Given the description of an element on the screen output the (x, y) to click on. 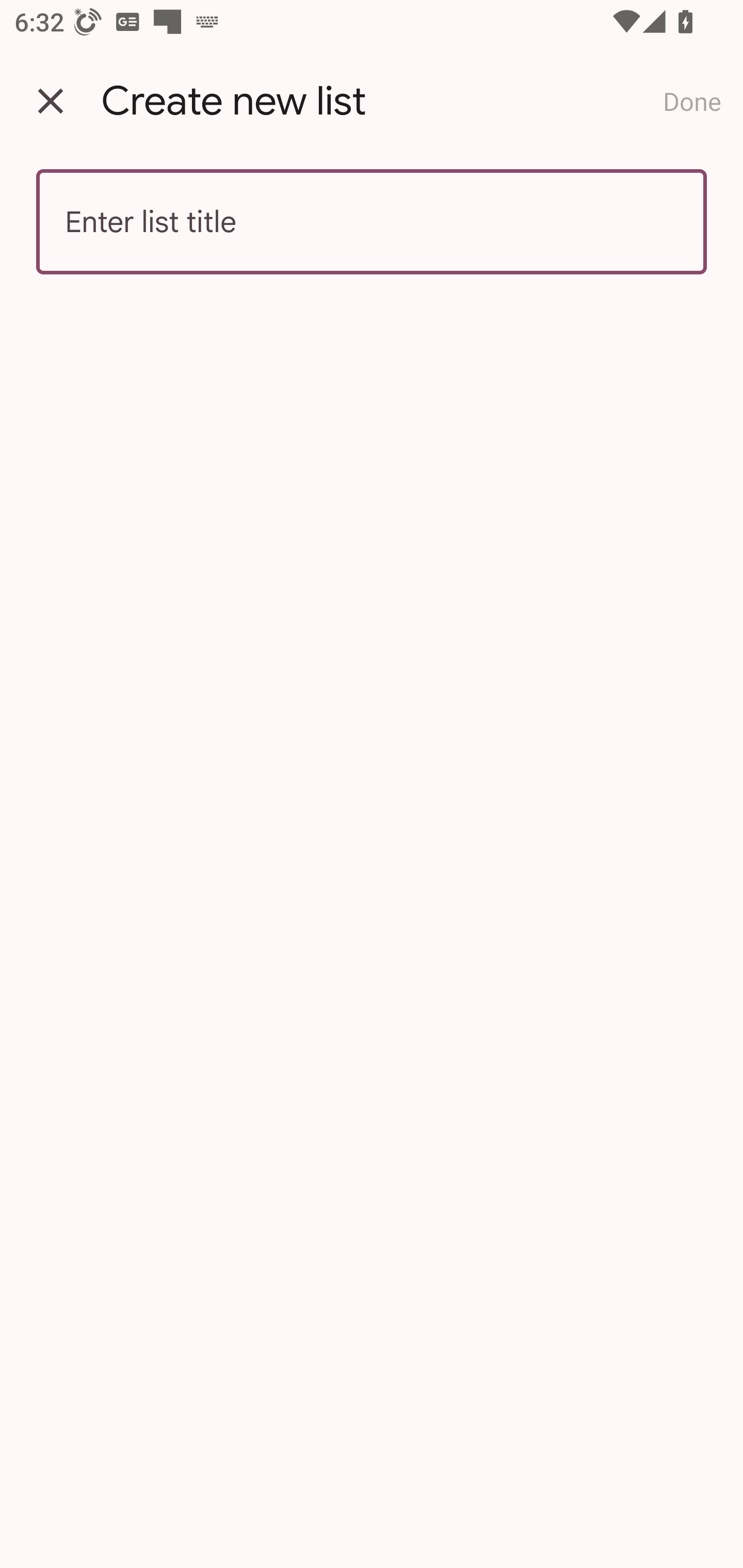
Back (50, 101)
Done (692, 101)
Enter list title (371, 221)
